Given the description of an element on the screen output the (x, y) to click on. 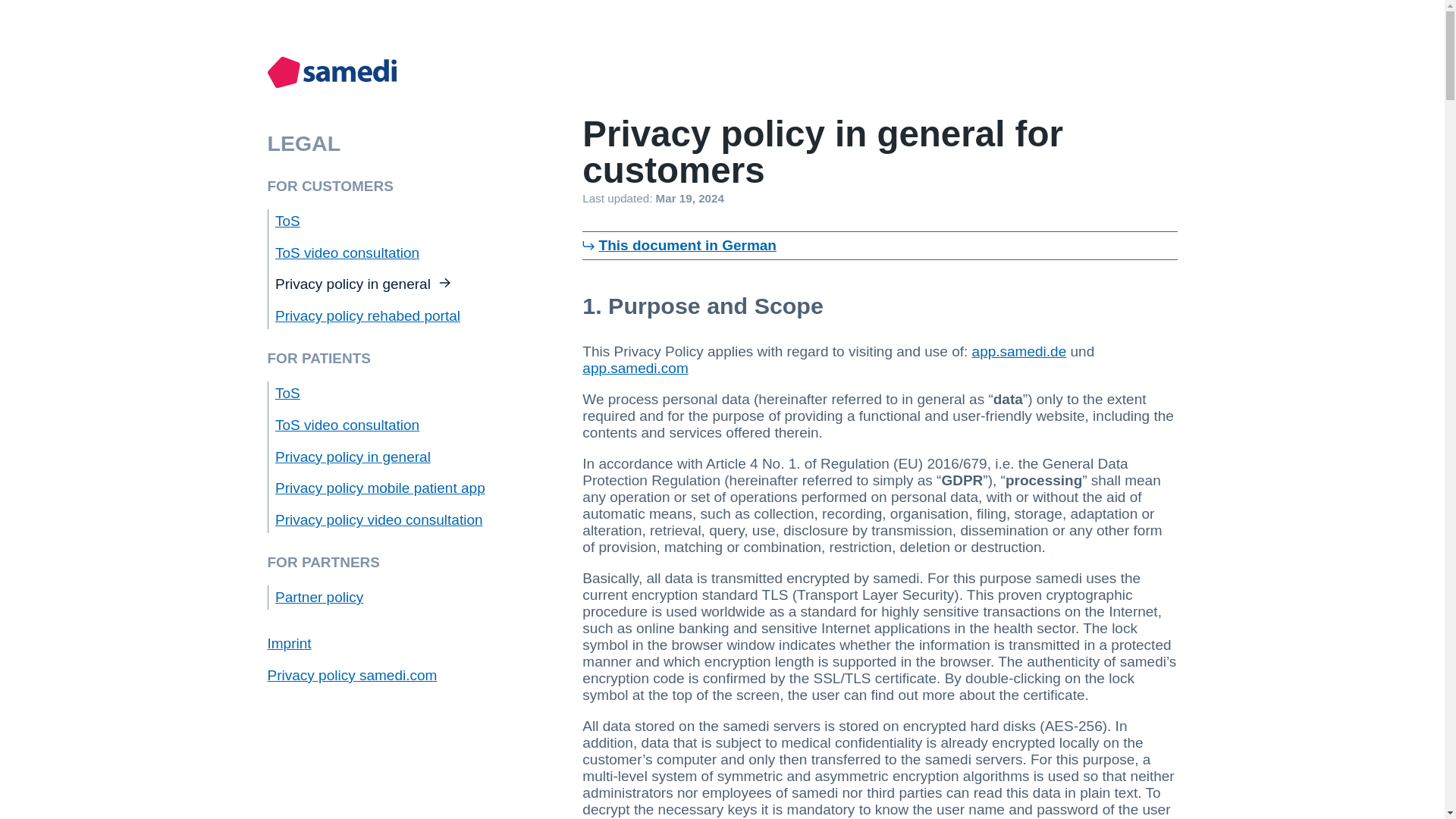
Privacy policy video consultation (379, 519)
ToS video consultation (347, 424)
Privacy policy mobile patient app (379, 487)
app.samedi.de (1019, 351)
Privacy policy rehabed portal (367, 315)
Privacy policy samedi.com (351, 675)
Privacy policy in general (363, 283)
app.samedi.com (634, 367)
ToS (287, 220)
ToS (287, 392)
